Given the description of an element on the screen output the (x, y) to click on. 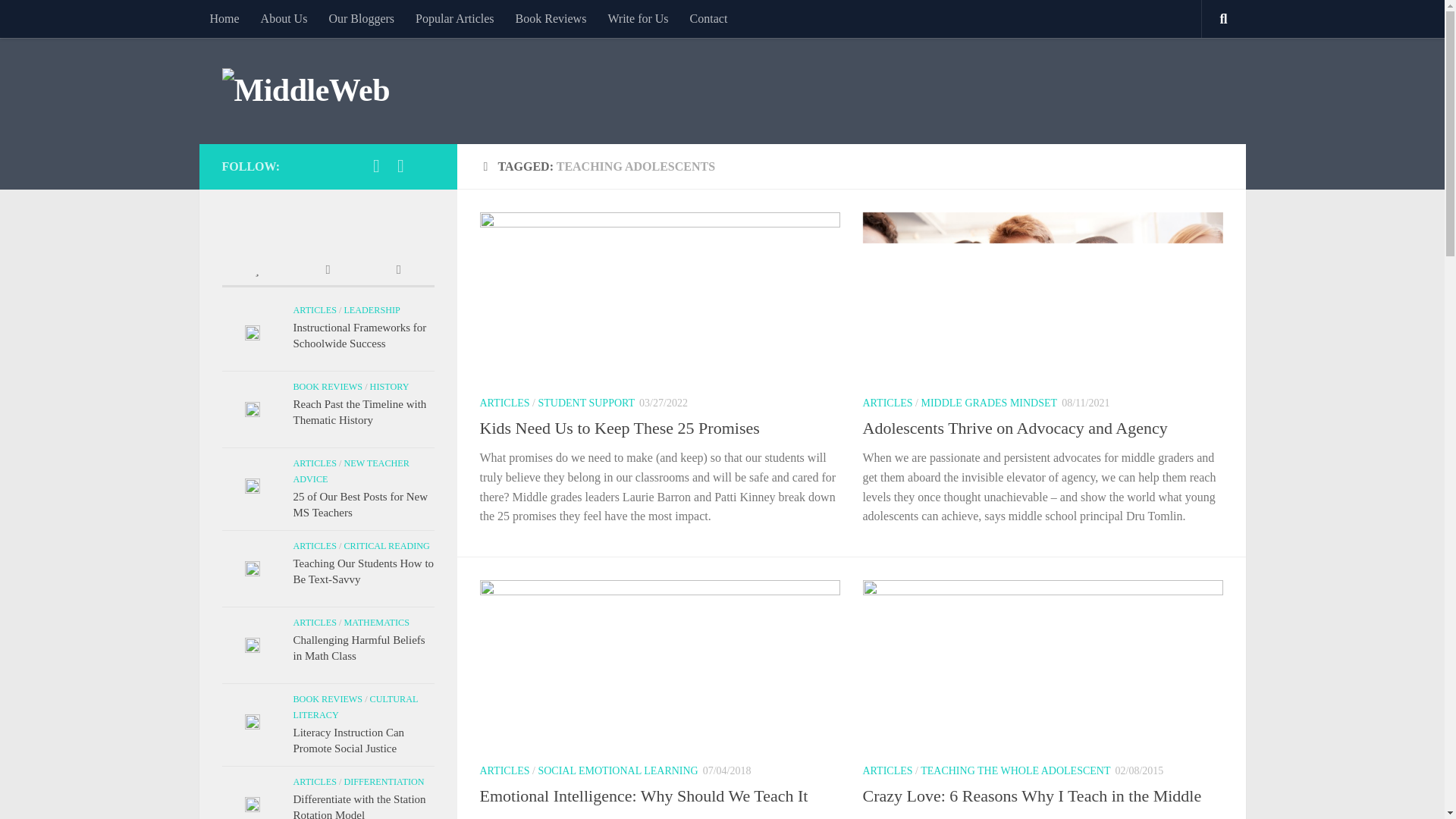
ARTICLES (504, 770)
Twitter (375, 166)
STUDENT SUPPORT (585, 402)
SOCIAL EMOTIONAL LEARNING (617, 770)
Facebook (400, 166)
Adolescents Thrive on Advocacy and Agency (1015, 427)
ARTICLES (887, 770)
TEACHING THE WHOLE ADOLESCENT (1014, 770)
Popular Articles (454, 18)
Kids Need Us to Keep These 25 Promises (618, 427)
Book Reviews (550, 18)
Contact (708, 18)
MIDDLE GRADES MINDSET (988, 402)
About Us (284, 18)
Write for Us (637, 18)
